Given the description of an element on the screen output the (x, y) to click on. 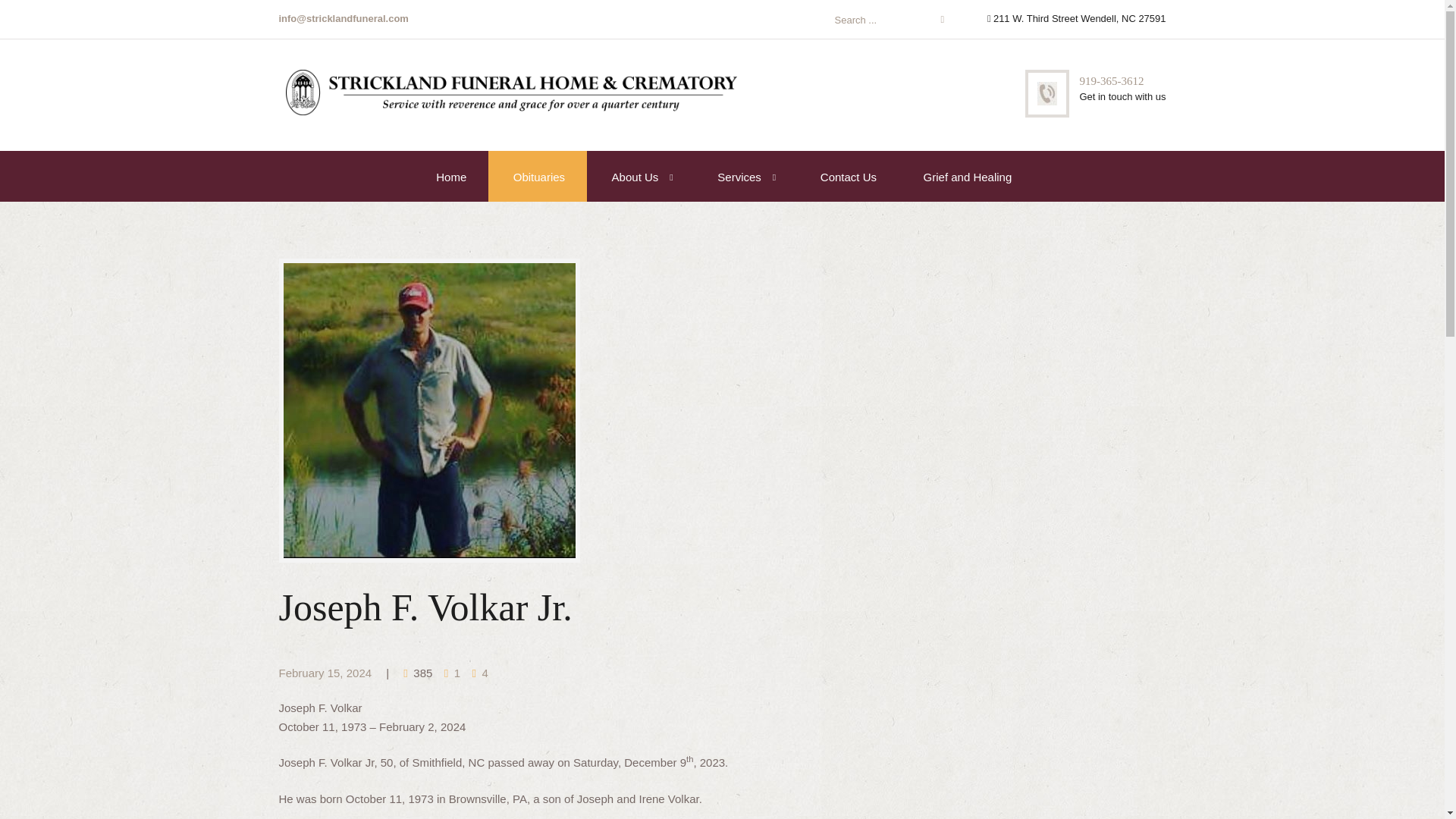
About Us (632, 175)
February 15, 2024 (325, 672)
4 (479, 673)
Obituaries (537, 175)
919-365-3612 (1110, 80)
Search ... (874, 19)
Contact Us (847, 175)
1 (452, 673)
Services (737, 175)
919-365-3612 (1110, 80)
Grief and Healing (966, 175)
About Us (632, 175)
Home (449, 175)
Obituaries (537, 175)
